Given the description of an element on the screen output the (x, y) to click on. 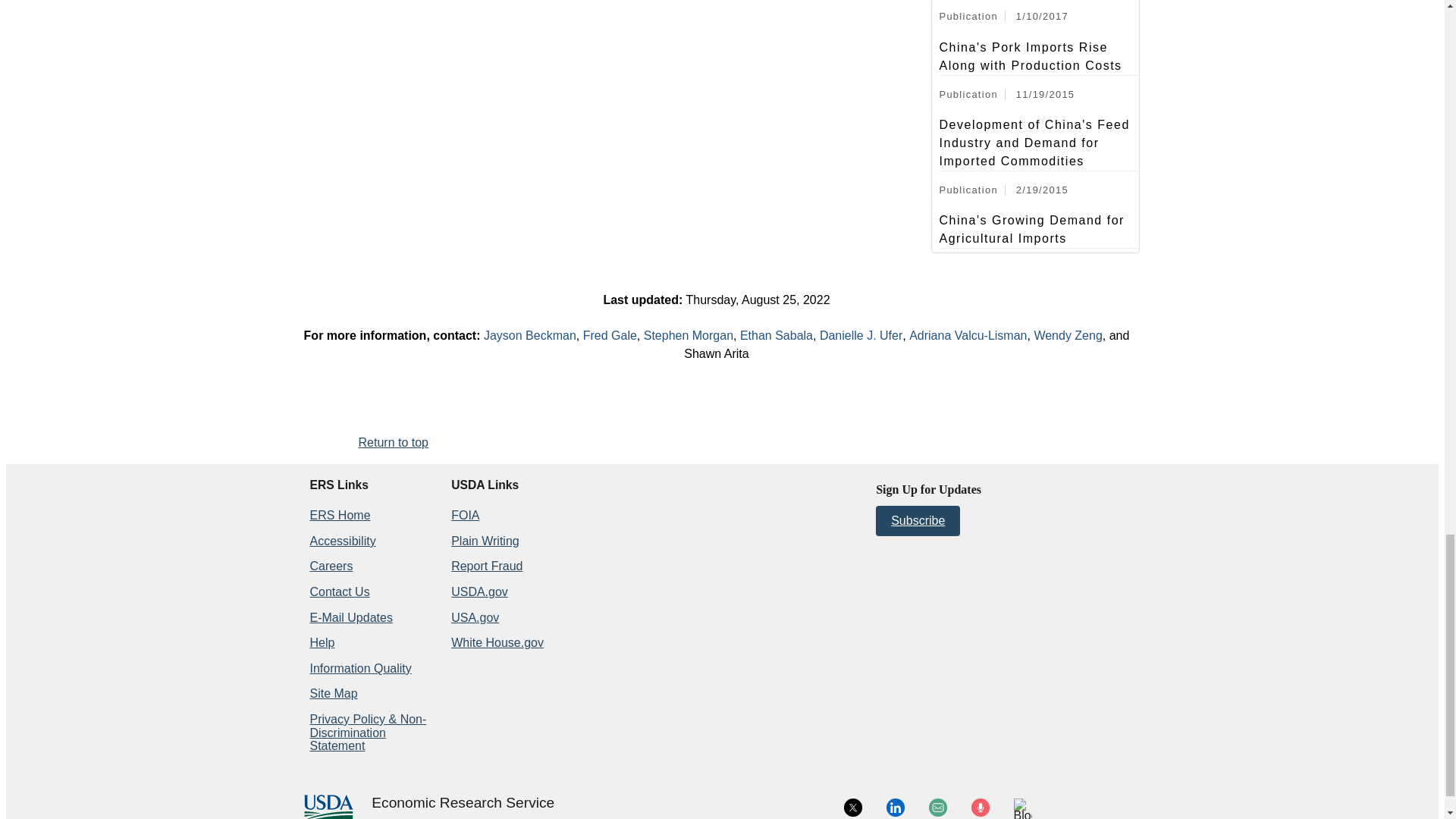
USDA.gov (463, 816)
LinkedIn icon (894, 807)
Email Icon (937, 807)
Home (462, 803)
Multimedia Icon (979, 807)
Blog Icon (1021, 808)
